Given the description of an element on the screen output the (x, y) to click on. 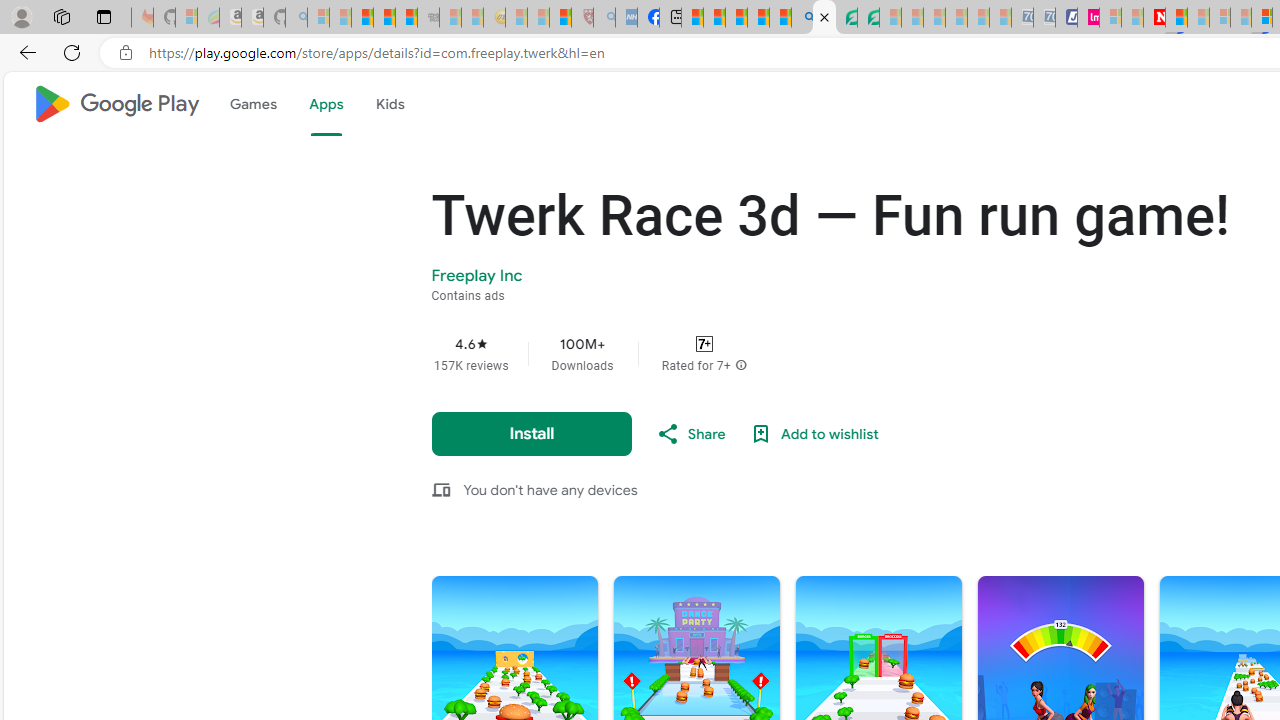
Pets - MSN (758, 17)
